Given the description of an element on the screen output the (x, y) to click on. 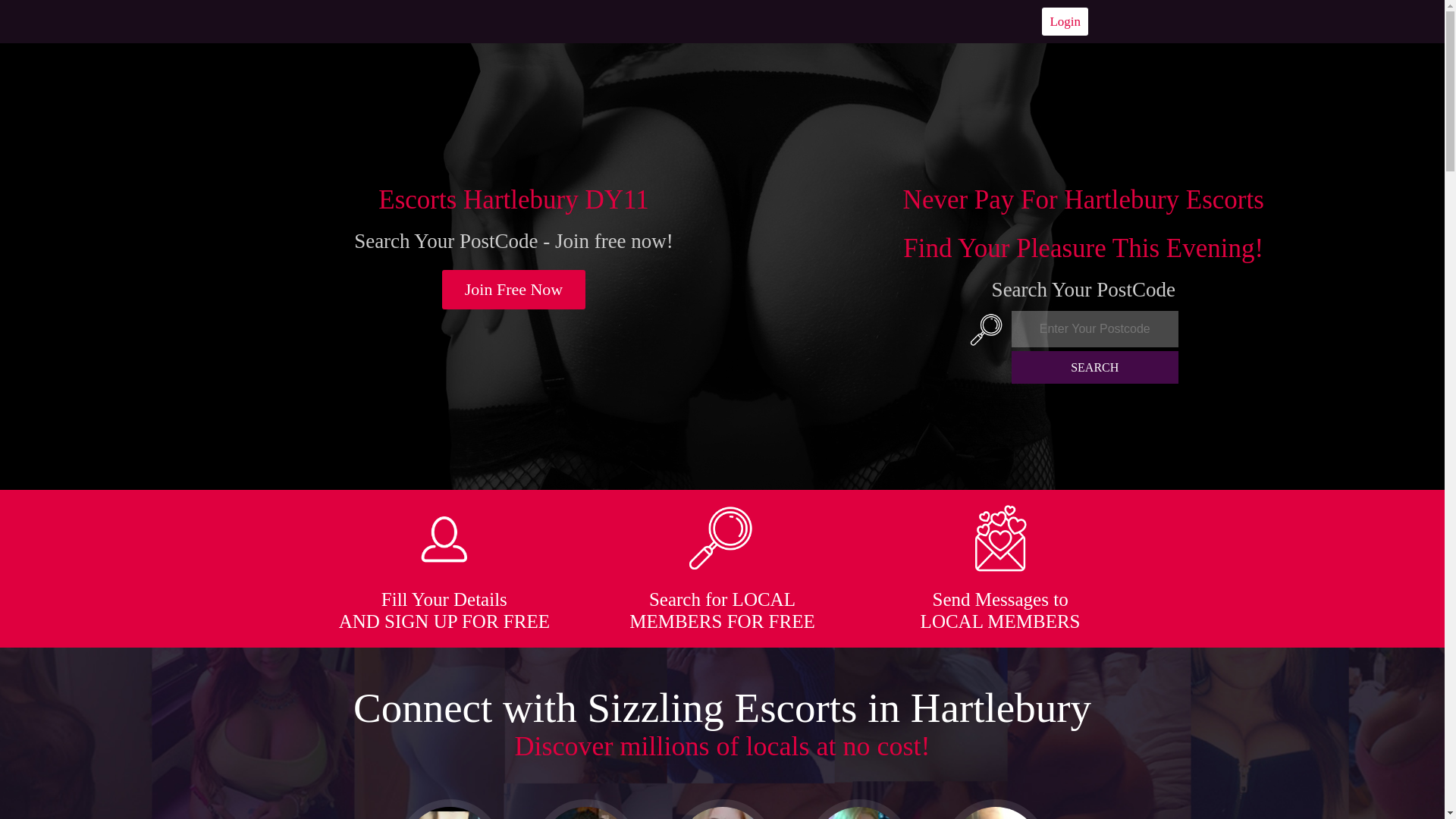
Login (1064, 21)
SEARCH (1094, 367)
Login (1064, 21)
Join (514, 289)
Join Free Now (514, 289)
